Given the description of an element on the screen output the (x, y) to click on. 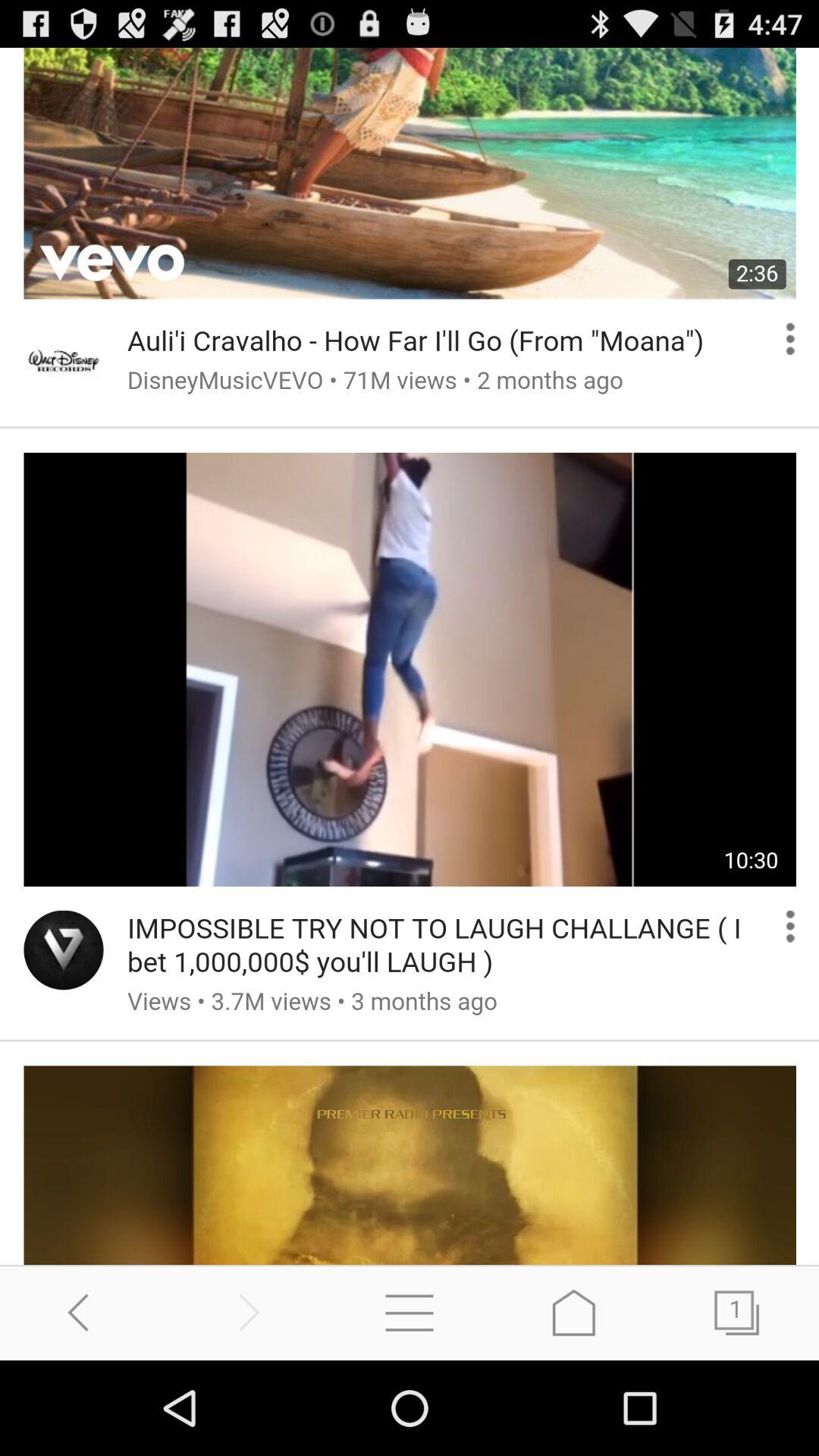
go to previous (245, 1312)
